Given the description of an element on the screen output the (x, y) to click on. 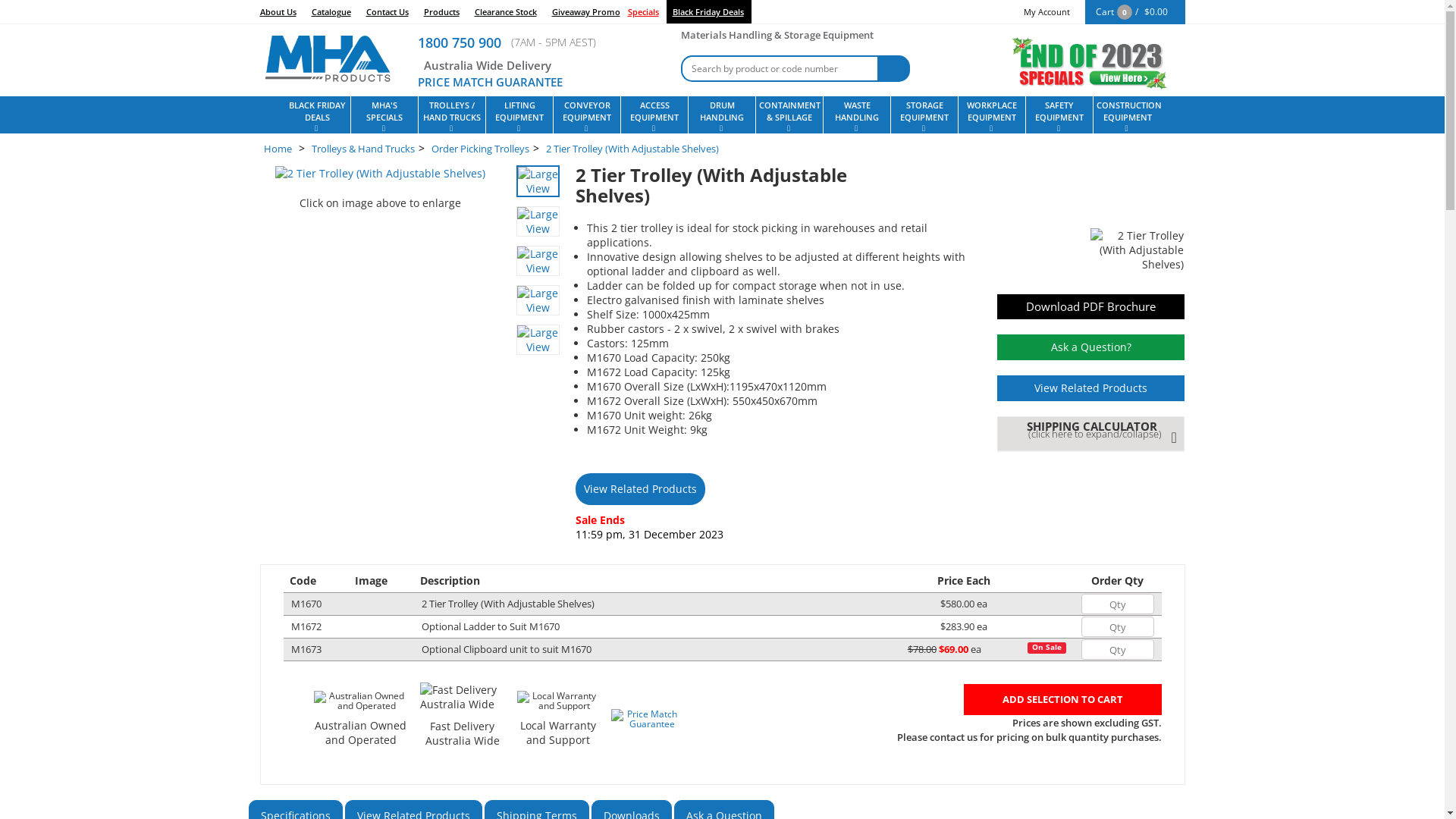
PRICE MATCH GUARANTEE Element type: text (489, 81)
Order Picking Trolleys Element type: text (479, 148)
LIFTING EQUIPMENT Element type: text (519, 114)
Large View Element type: hover (537, 183)
Large View Element type: hover (537, 181)
Ask a Question? Element type: text (1091, 347)
STORAGE EQUIPMENT Element type: text (924, 114)
Large View Element type: hover (537, 260)
Large View Element type: hover (537, 300)
MHA'S SPECIALS Element type: text (384, 114)
   Element type: text (358, 650)
CONSTRUCTION EQUIPMENT Element type: text (1127, 114)
About Us Element type: text (281, 11)
Home Element type: text (277, 148)
TROLLEYS / HAND TRUCKS Element type: text (451, 114)
Clearance Stock Element type: text (505, 11)
Large View Element type: hover (537, 263)
MHA Products Element type: hover (326, 56)
ACCESS EQUIPMENT Element type: text (654, 114)
Large View Element type: hover (537, 221)
WORKPLACE EQUIPMENT Element type: text (991, 114)
View Related Products Element type: text (640, 489)
Giveaway Promo Element type: text (585, 11)
View Related Products Element type: text (1091, 388)
   Element type: text (358, 627)
CONVEYOR EQUIPMENT Element type: text (586, 114)
1800 750 900 Element type: text (459, 42)
BLACK FRIDAY DEALS Element type: text (316, 114)
Large View Element type: hover (537, 339)
Specials Element type: text (646, 11)
Large View Element type: hover (537, 223)
ADD SELECTION TO CART Element type: text (1062, 699)
2 Tier Trolley (With Adjustable Shelves) Element type: text (632, 148)
DRUM HANDLING Element type: text (721, 114)
Trolleys & Hand Trucks Element type: text (362, 148)
Products Element type: text (440, 11)
Search Element type: text (893, 68)
Large View Element type: hover (537, 342)
Download PDF Brochure Element type: text (1091, 306)
Large View Element type: hover (537, 302)
SHIPPING CALCULATOR
(click here to expand/collapse) Element type: text (1094, 429)
WASTE HANDLING Element type: text (856, 114)
CONTAINMENT & SPILLAGE Element type: text (789, 114)
   Element type: text (358, 604)
My Account Element type: text (1046, 11)
Black Friday Deals Element type: text (707, 11)
Cart0/ $0.00 Element type: text (1134, 12)
Catalogue Element type: text (330, 11)
SAFETY EQUIPMENT Element type: text (1059, 114)
Contact Us Element type: text (386, 11)
